Given the description of an element on the screen output the (x, y) to click on. 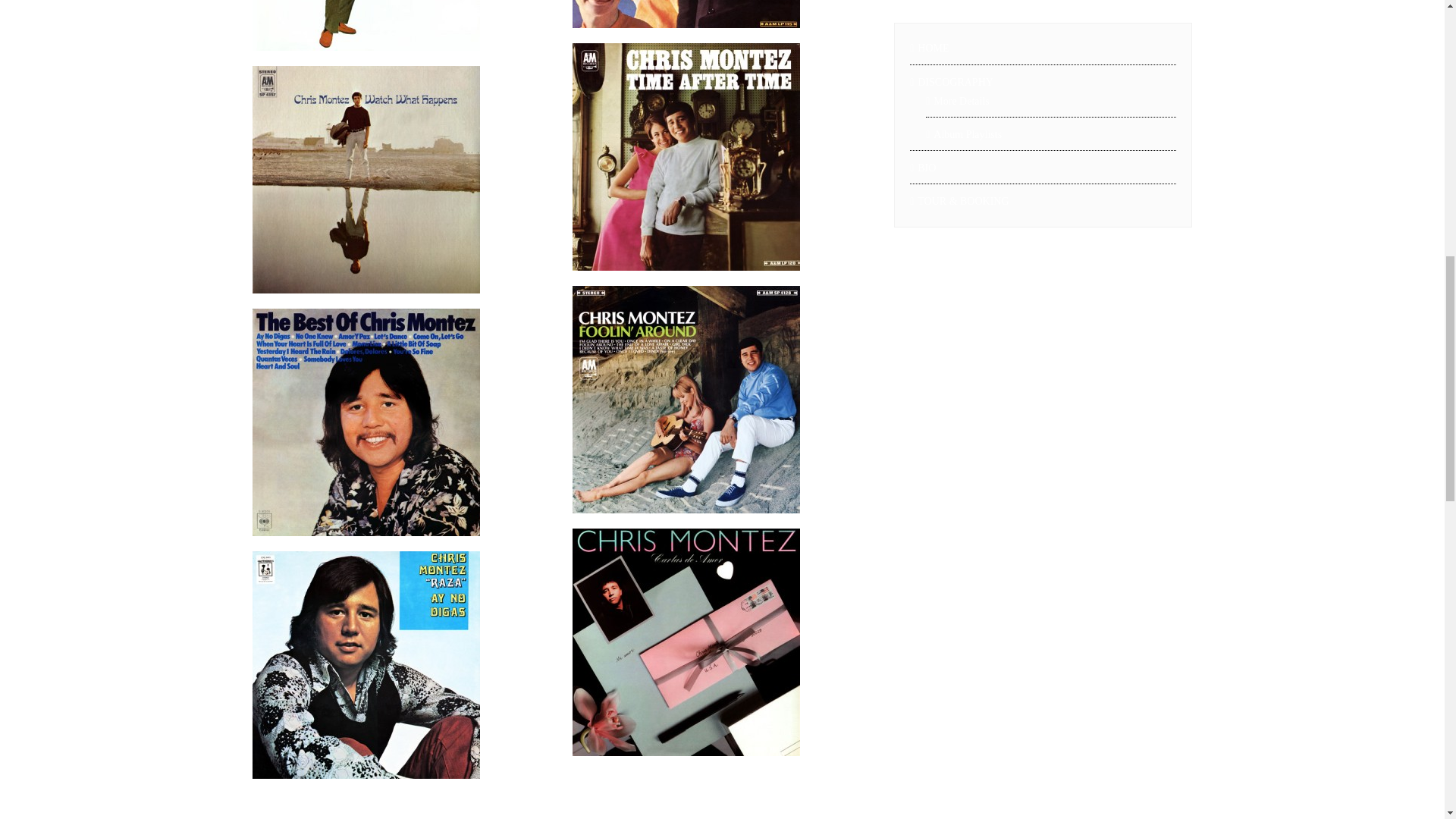
letsdancefrnt (365, 25)
moreiseeyoufrnt (685, 13)
timeaftertimefrnt (685, 157)
BIO (1043, 167)
Album Playlists (1051, 134)
AyNoDigas (365, 664)
DISCOGRAPHY (1043, 81)
watchwhathappensfrnt (365, 179)
foolinaroundfrnt (685, 399)
More Details (1051, 100)
HOME (1043, 47)
